Given the description of an element on the screen output the (x, y) to click on. 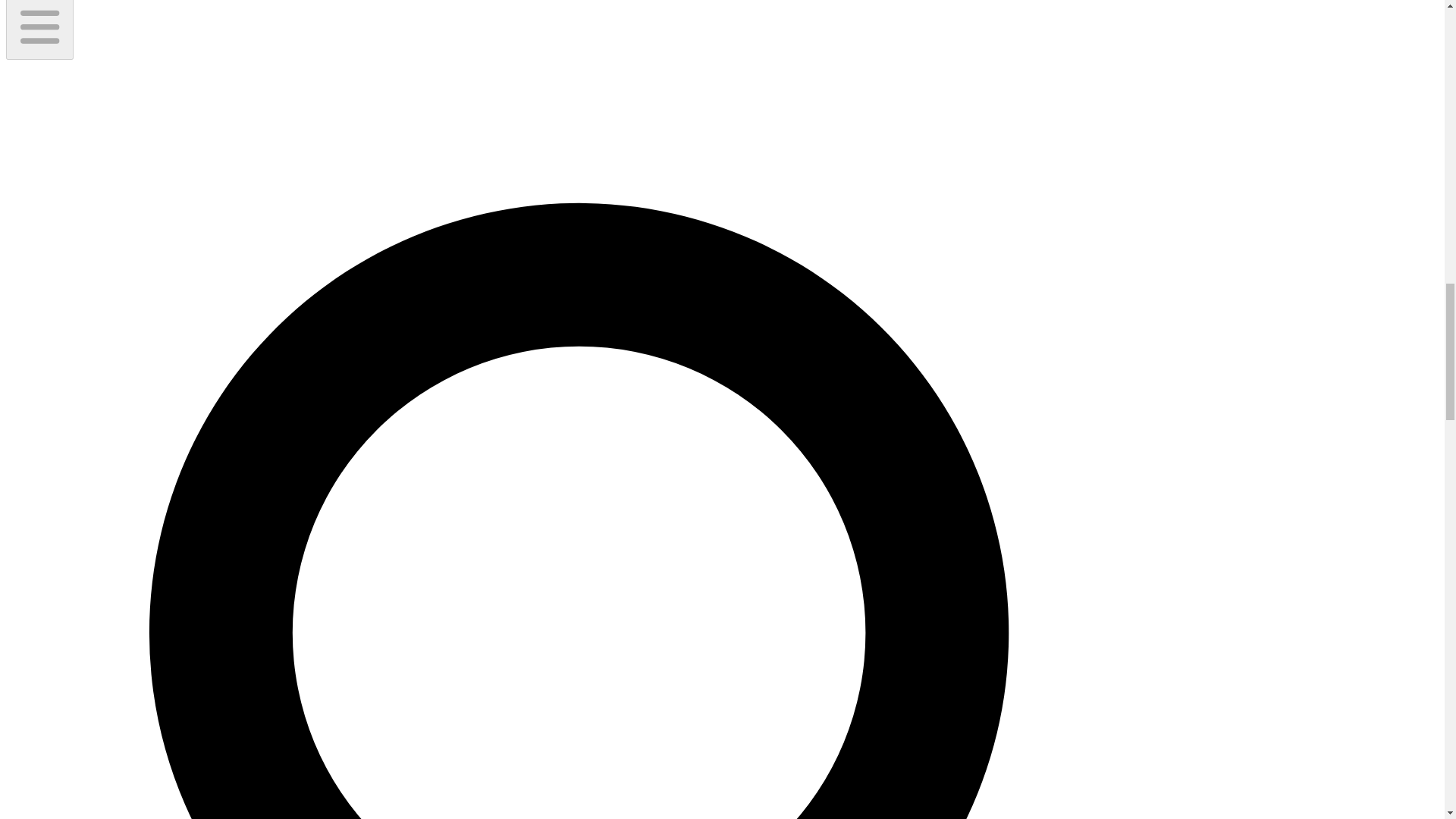
Open menu (39, 29)
